Given the description of an element on the screen output the (x, y) to click on. 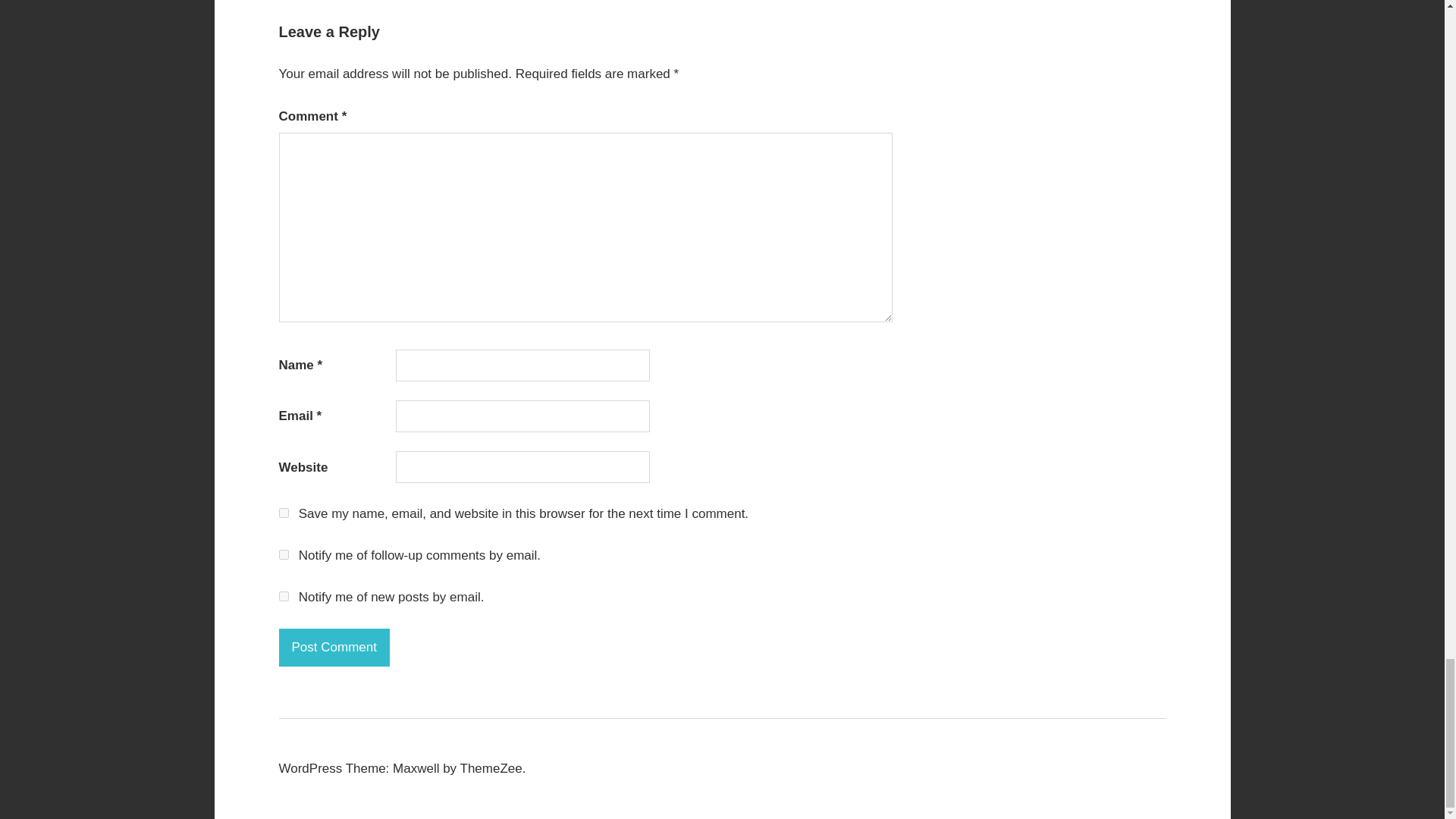
yes (283, 512)
subscribe (283, 554)
Post Comment (334, 647)
subscribe (283, 596)
Post Comment (334, 647)
